Given the description of an element on the screen output the (x, y) to click on. 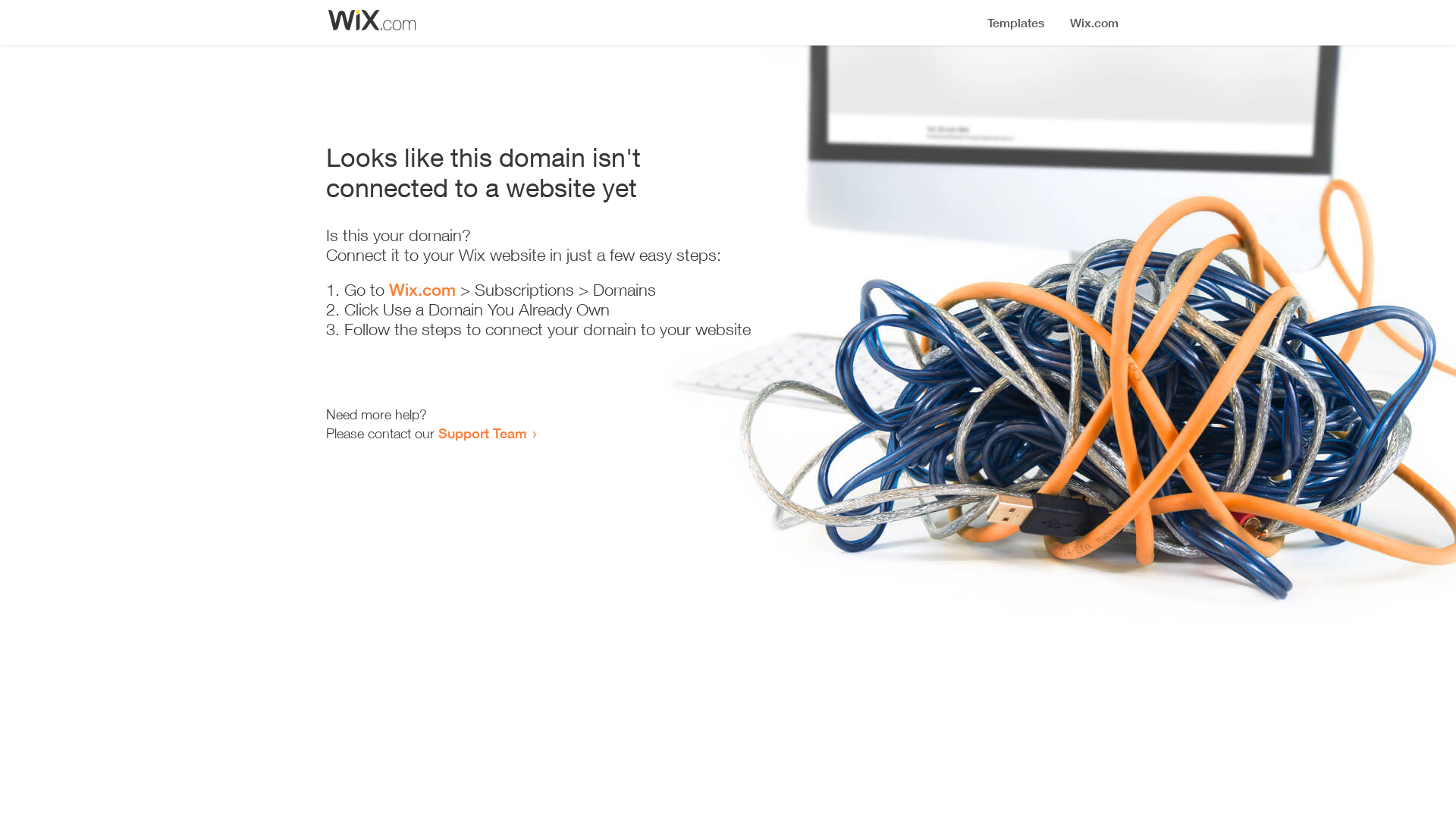
Support Team Element type: text (482, 432)
Wix.com Element type: text (422, 289)
